Given the description of an element on the screen output the (x, y) to click on. 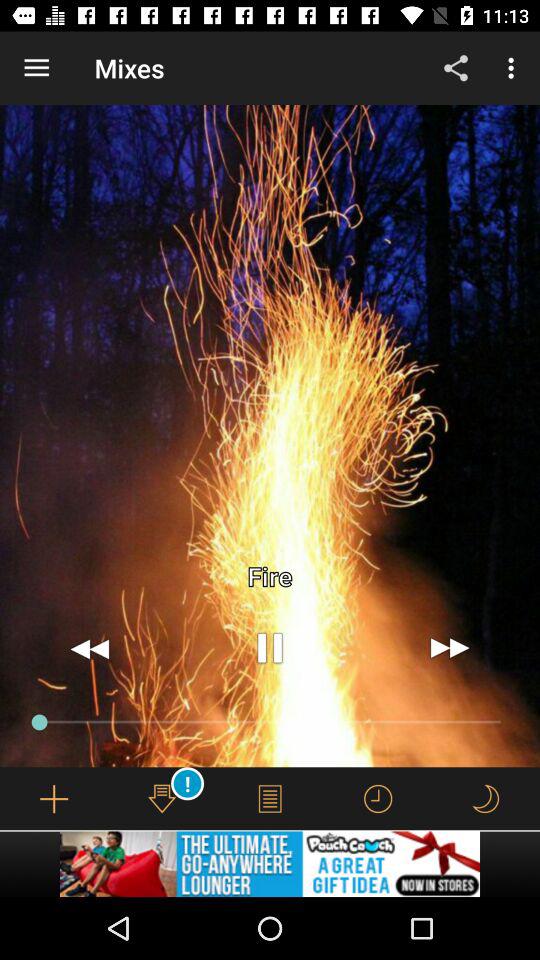
select app to the right of mixes item (455, 67)
